Given the description of an element on the screen output the (x, y) to click on. 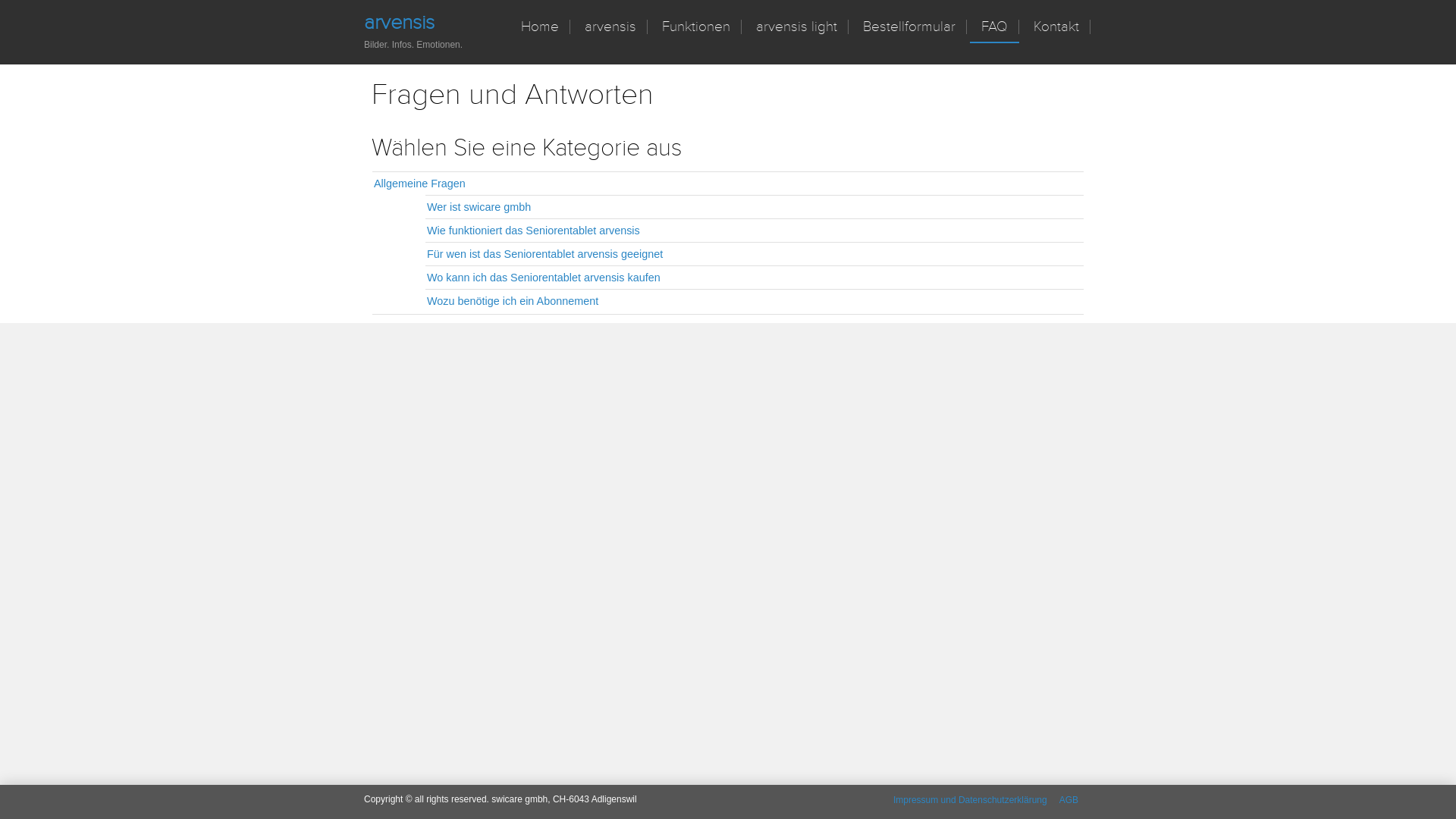
AGB Element type: text (1068, 799)
Allgemeine Fragen Element type: text (727, 183)
Wo kann ich das Seniorentablet arvensis kaufen Element type: text (754, 277)
Funktionen Element type: text (695, 26)
Bestellformular Element type: text (908, 26)
Wer ist swicare gmbh Element type: text (754, 206)
Kontakt Element type: text (1056, 26)
arvensis Element type: text (399, 22)
FAQ Element type: text (994, 27)
arvensis Element type: text (610, 26)
arvensis light Element type: text (796, 26)
Wie funktioniert das Seniorentablet arvensis Element type: text (754, 230)
Home Element type: text (539, 26)
